Given the description of an element on the screen output the (x, y) to click on. 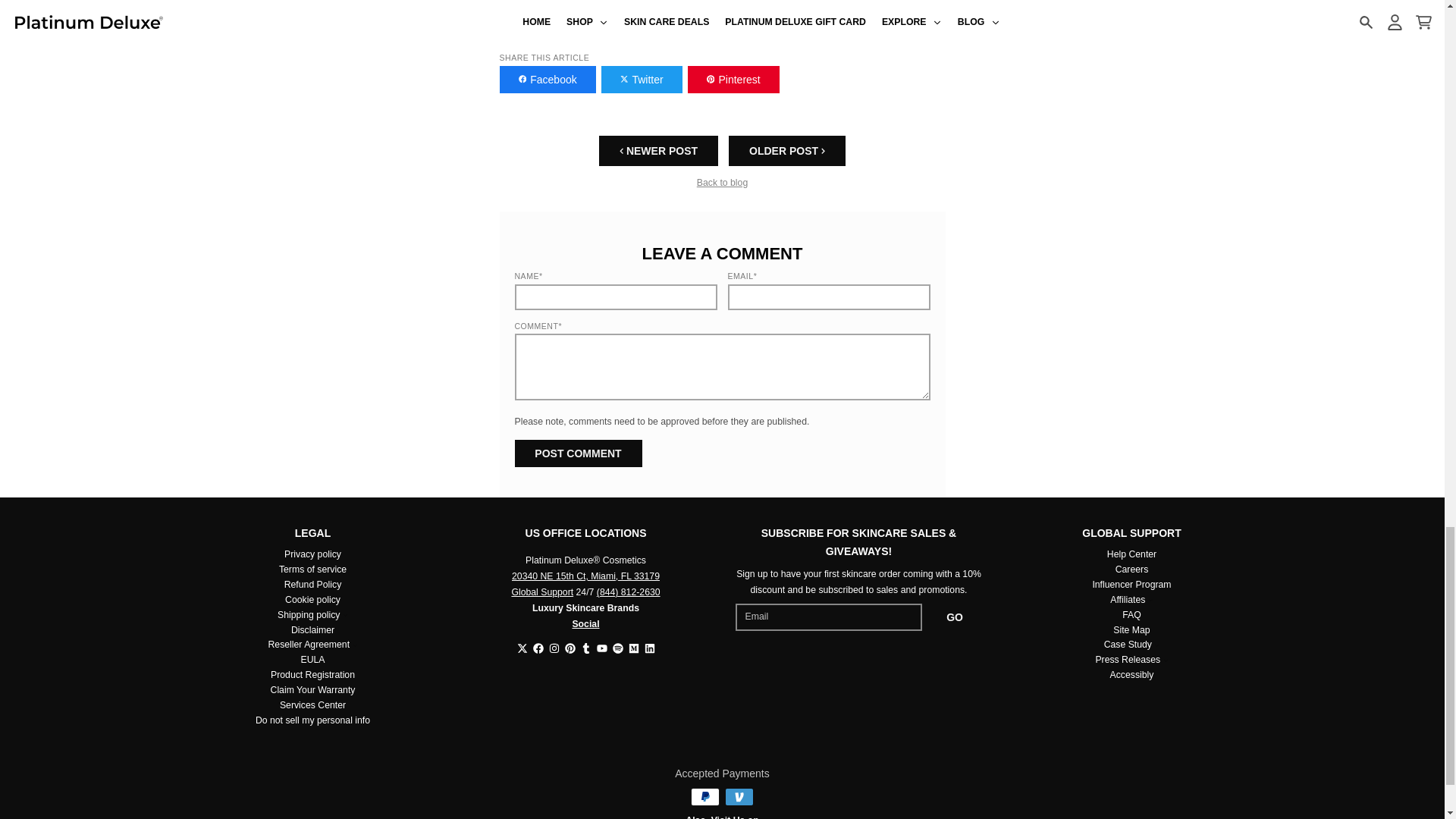
Instagram - Platinum Deluxe Cosmetics (553, 647)
Tumblr - Platinum Deluxe Cosmetics (585, 647)
Spotify - Platinum Deluxe Cosmetics (617, 647)
Medium - Platinum Deluxe Cosmetics (633, 647)
Pinterest - Platinum Deluxe Cosmetics (569, 647)
Facebook - Platinum Deluxe Cosmetics (537, 647)
LinkedIn - Platinum Deluxe Cosmetics (650, 647)
Post comment (577, 452)
Twitter - Platinum Deluxe Cosmetics (521, 647)
YouTube - Platinum Deluxe Cosmetics (601, 647)
